Given the description of an element on the screen output the (x, y) to click on. 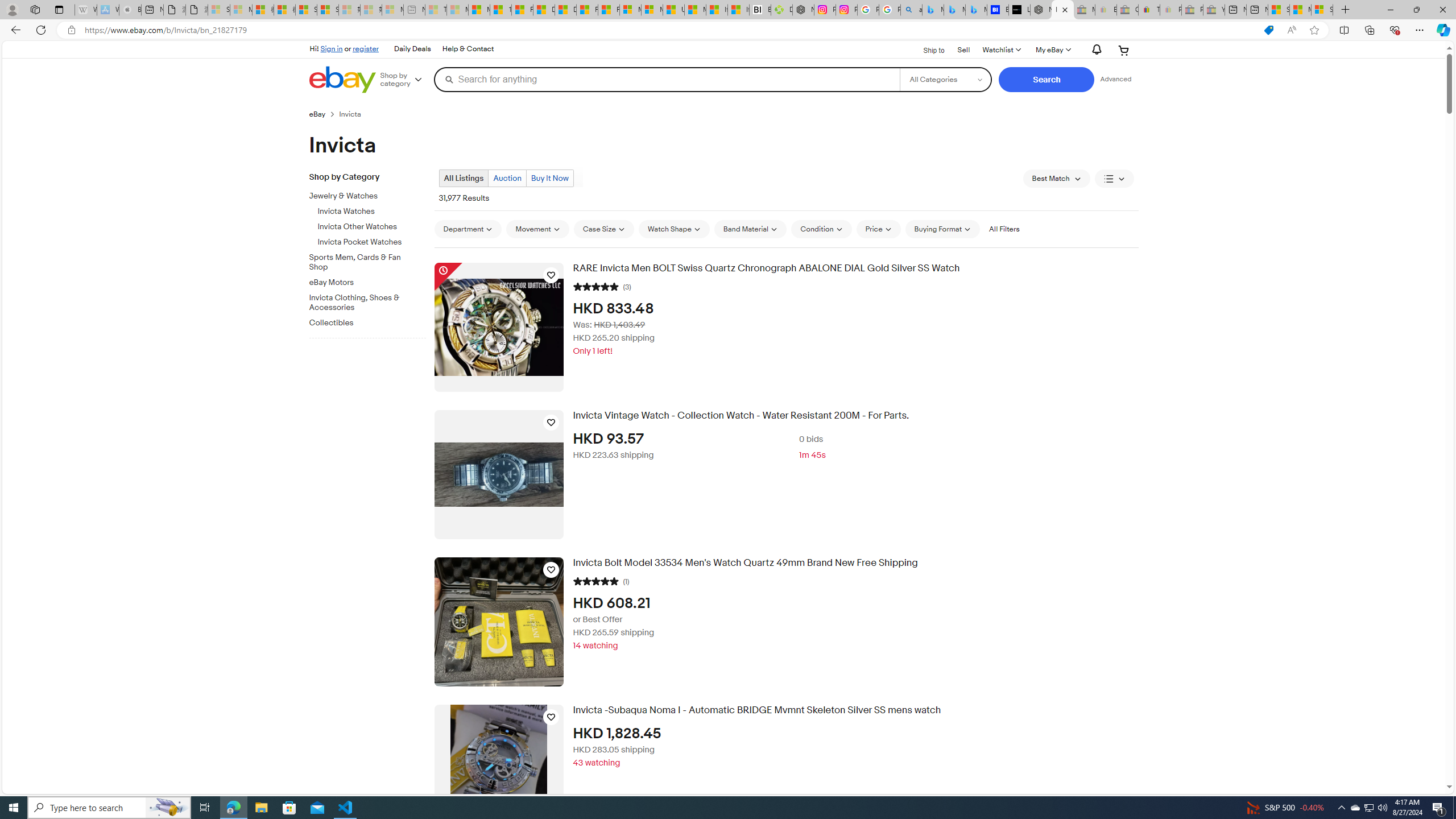
Collectibles (371, 320)
Invicta Other Watches (371, 226)
Top Stories - MSN - Sleeping (435, 9)
Jewelry & Watches (371, 194)
Invicta Watches (371, 211)
eBay Motors (371, 280)
Condition (820, 229)
Shop by category (405, 79)
